Given the description of an element on the screen output the (x, y) to click on. 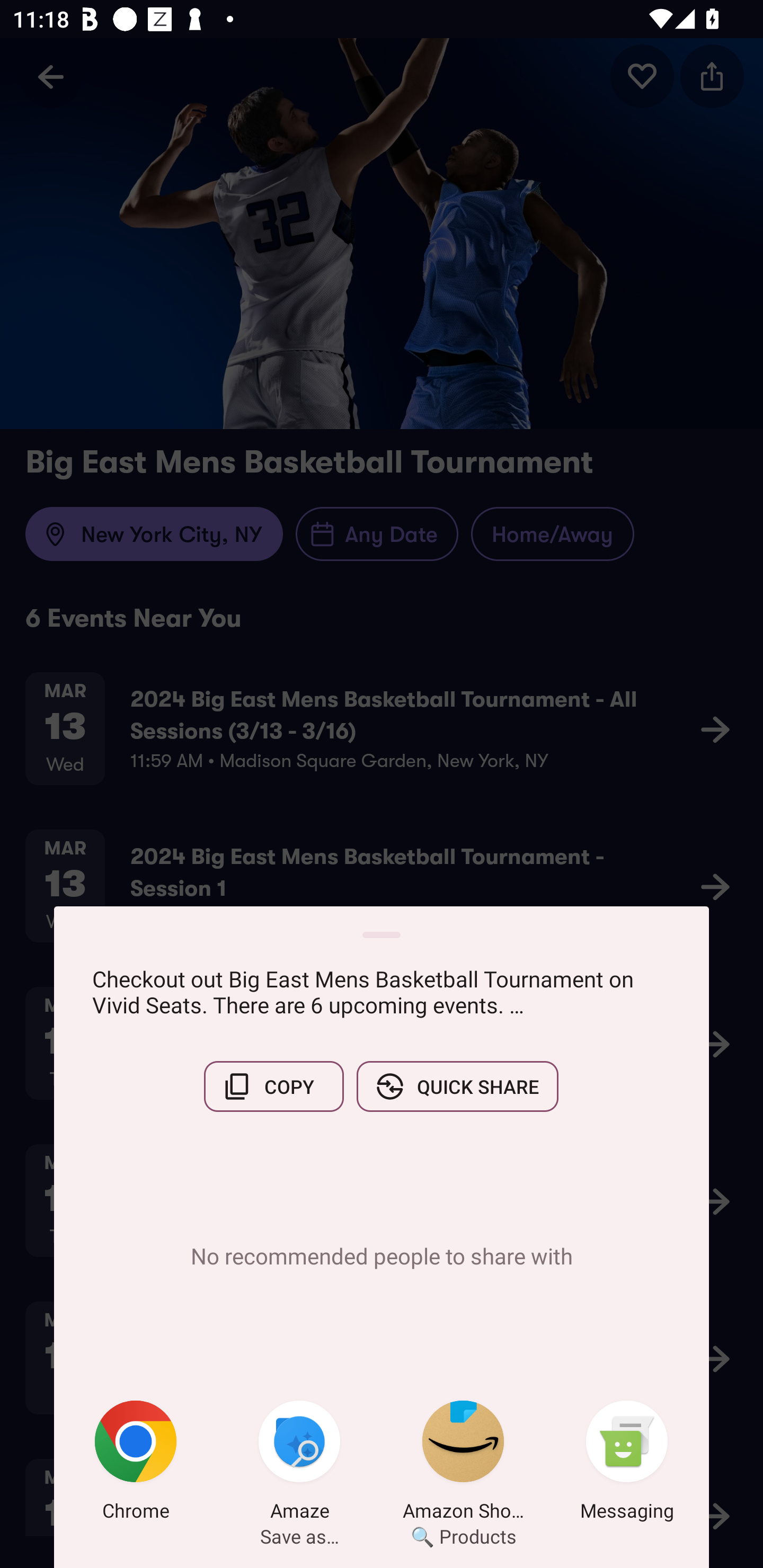
COPY (273, 1086)
QUICK SHARE (457, 1086)
Chrome (135, 1463)
Amaze Save as… (299, 1463)
Amazon Shopping 🔍 Products (463, 1463)
Messaging (626, 1463)
